Given the description of an element on the screen output the (x, y) to click on. 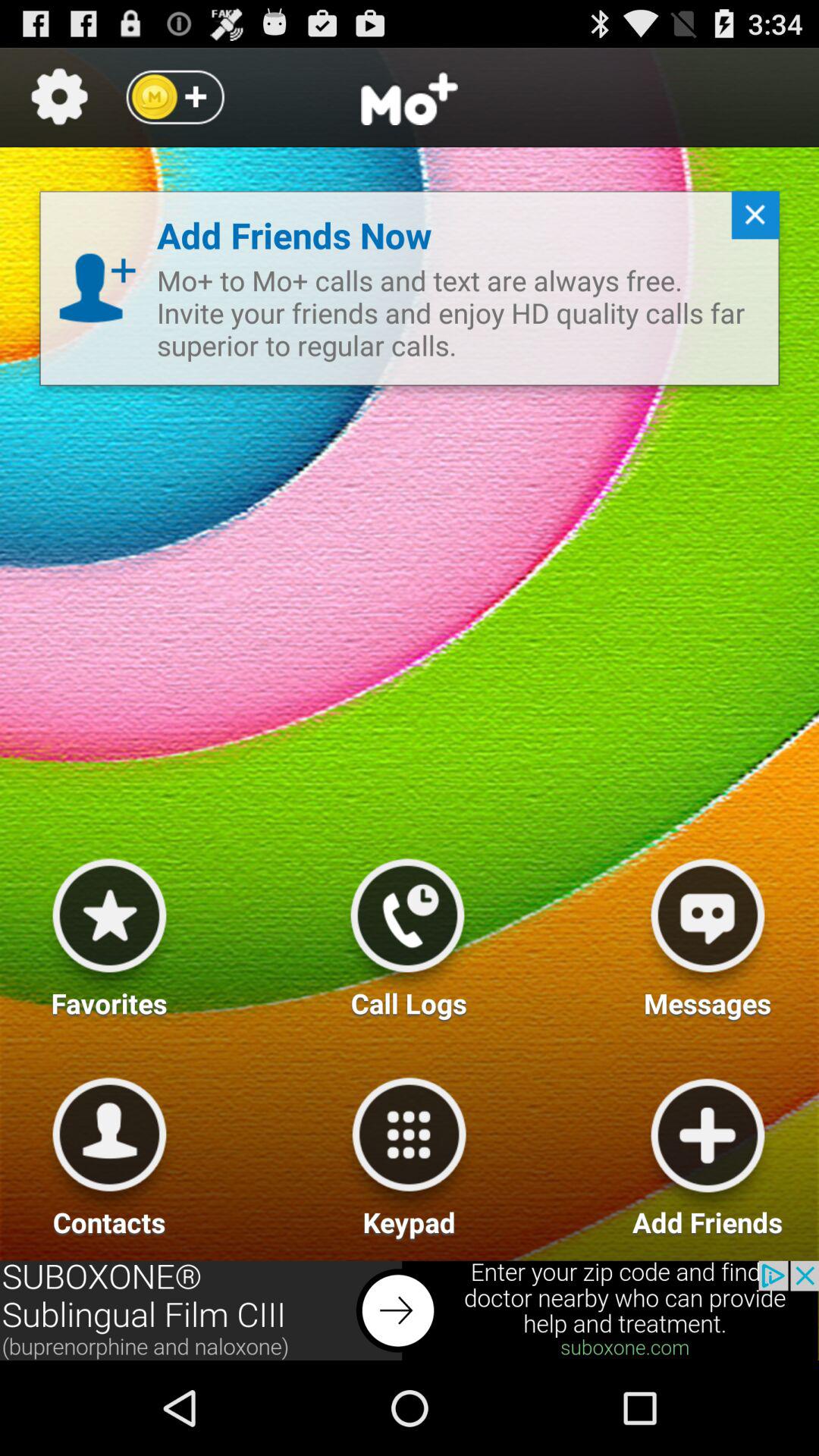
setting (59, 97)
